Given the description of an element on the screen output the (x, y) to click on. 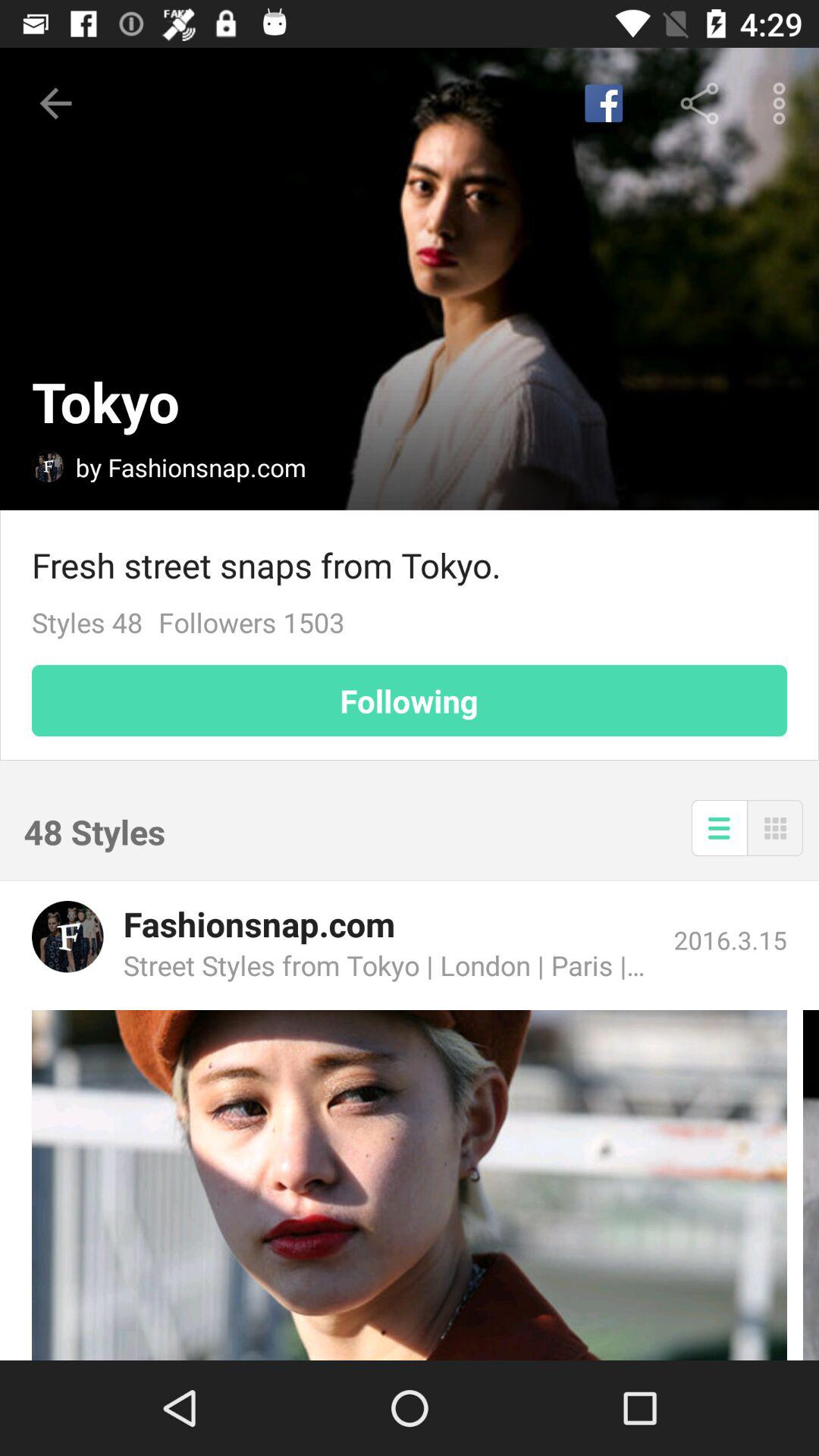
turn off the icon to the right of 48 styles (718, 827)
